Given the description of an element on the screen output the (x, y) to click on. 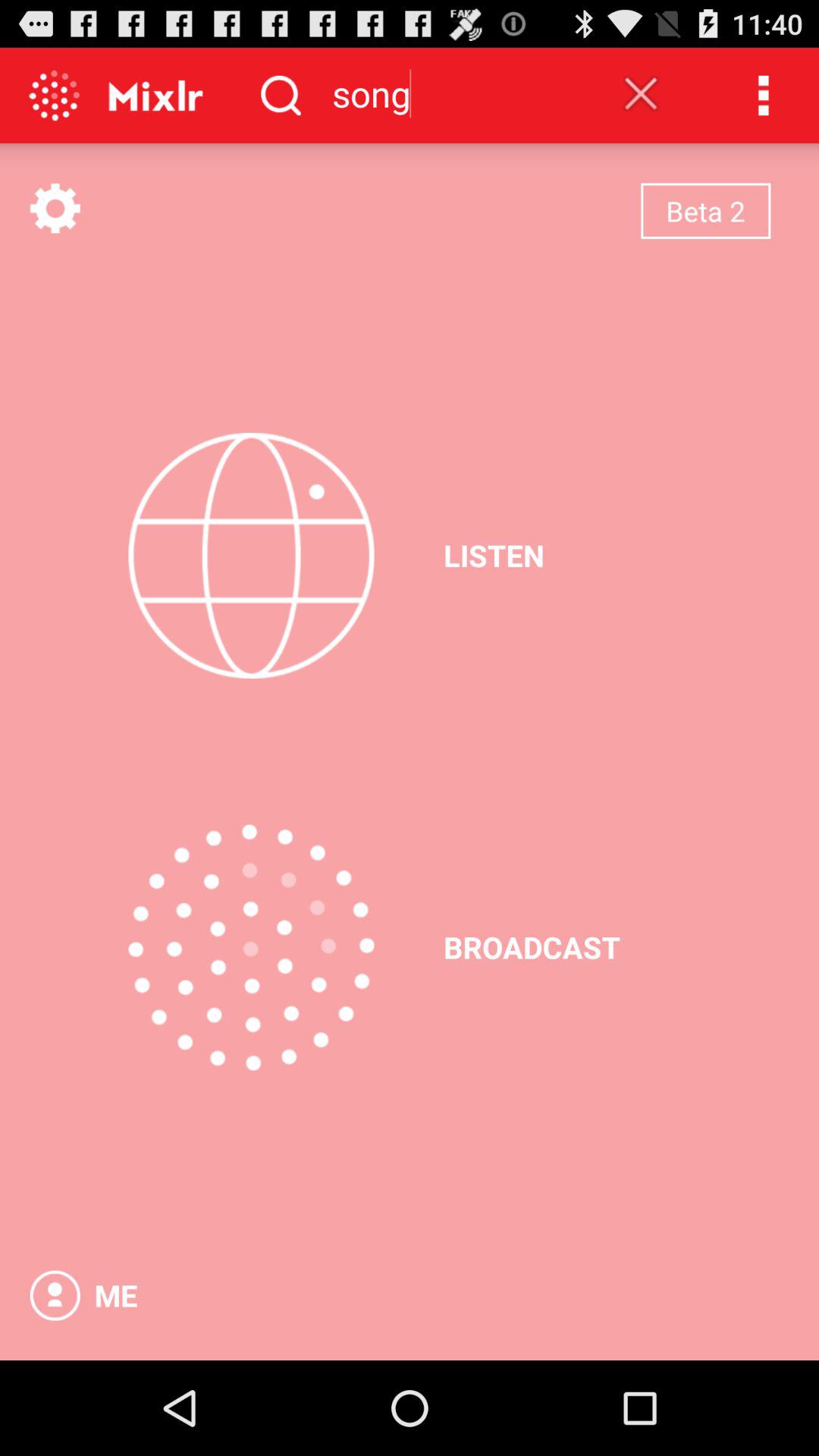
please press the first button to listen to the song (251, 555)
